Given the description of an element on the screen output the (x, y) to click on. 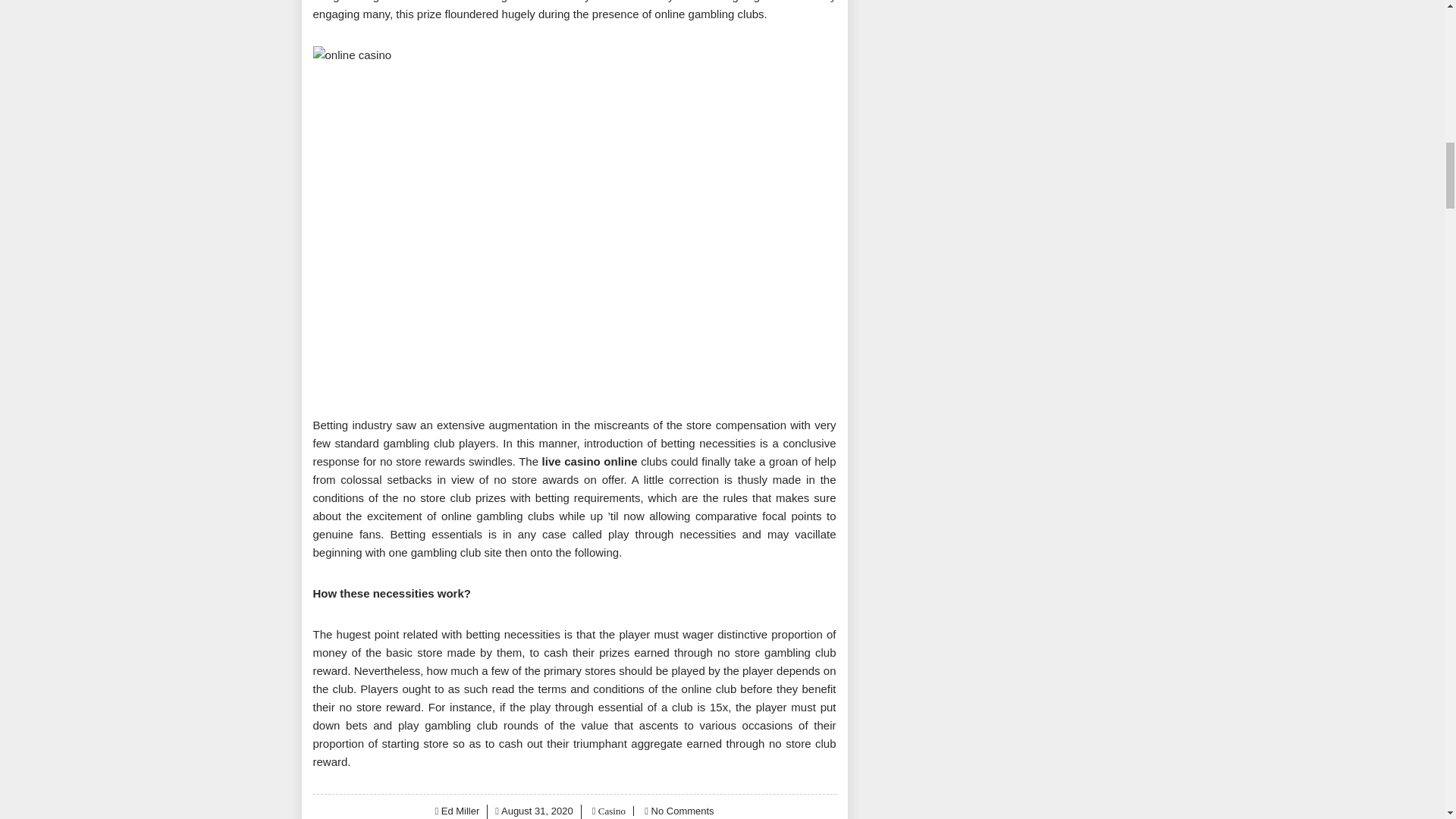
live casino online (589, 461)
No Comments (682, 810)
August 31, 2020 (536, 810)
Ed Miller (460, 810)
Casino (610, 810)
